Given the description of an element on the screen output the (x, y) to click on. 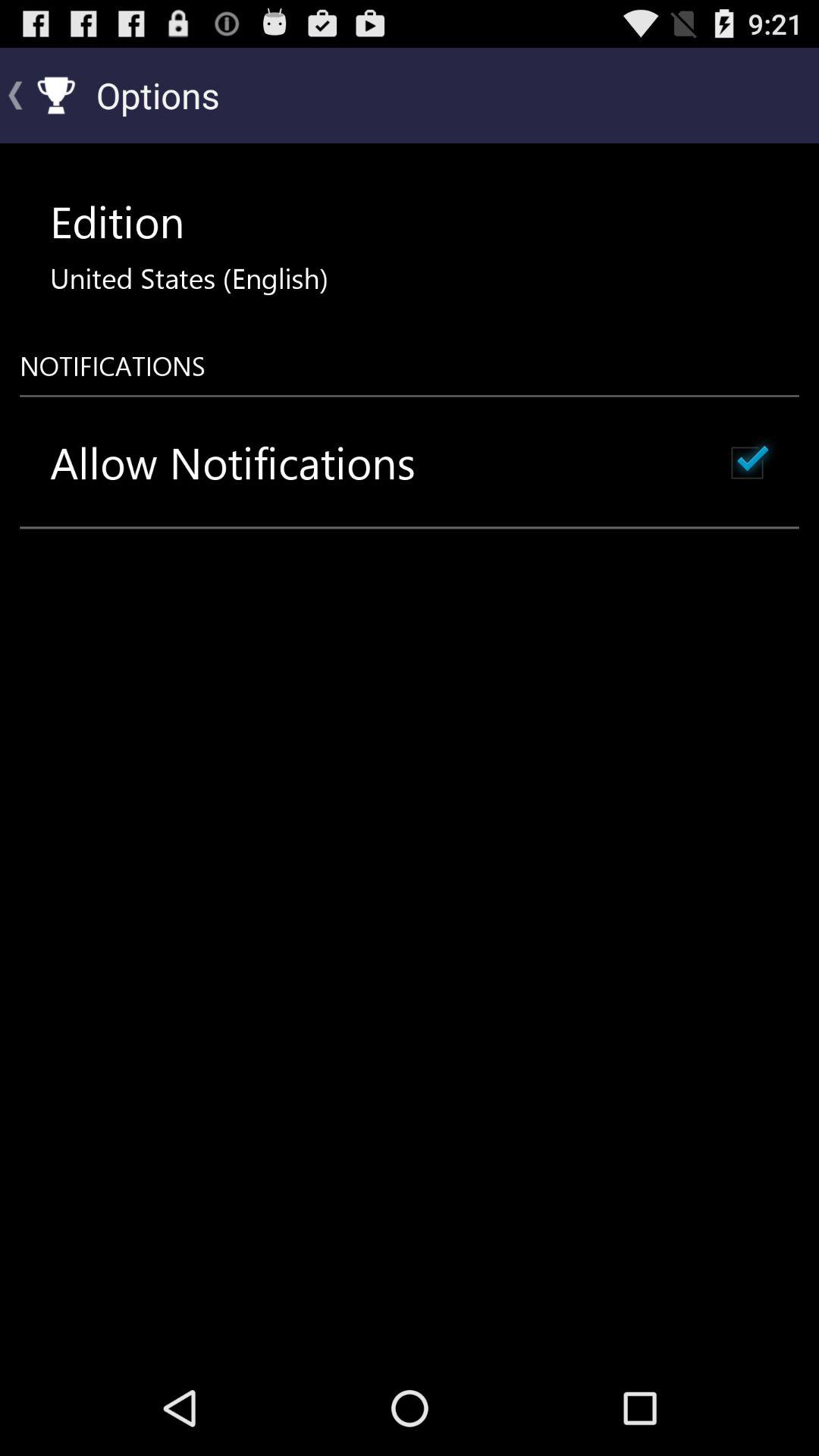
click icon to the right of the allow notifications icon (747, 462)
